Given the description of an element on the screen output the (x, y) to click on. 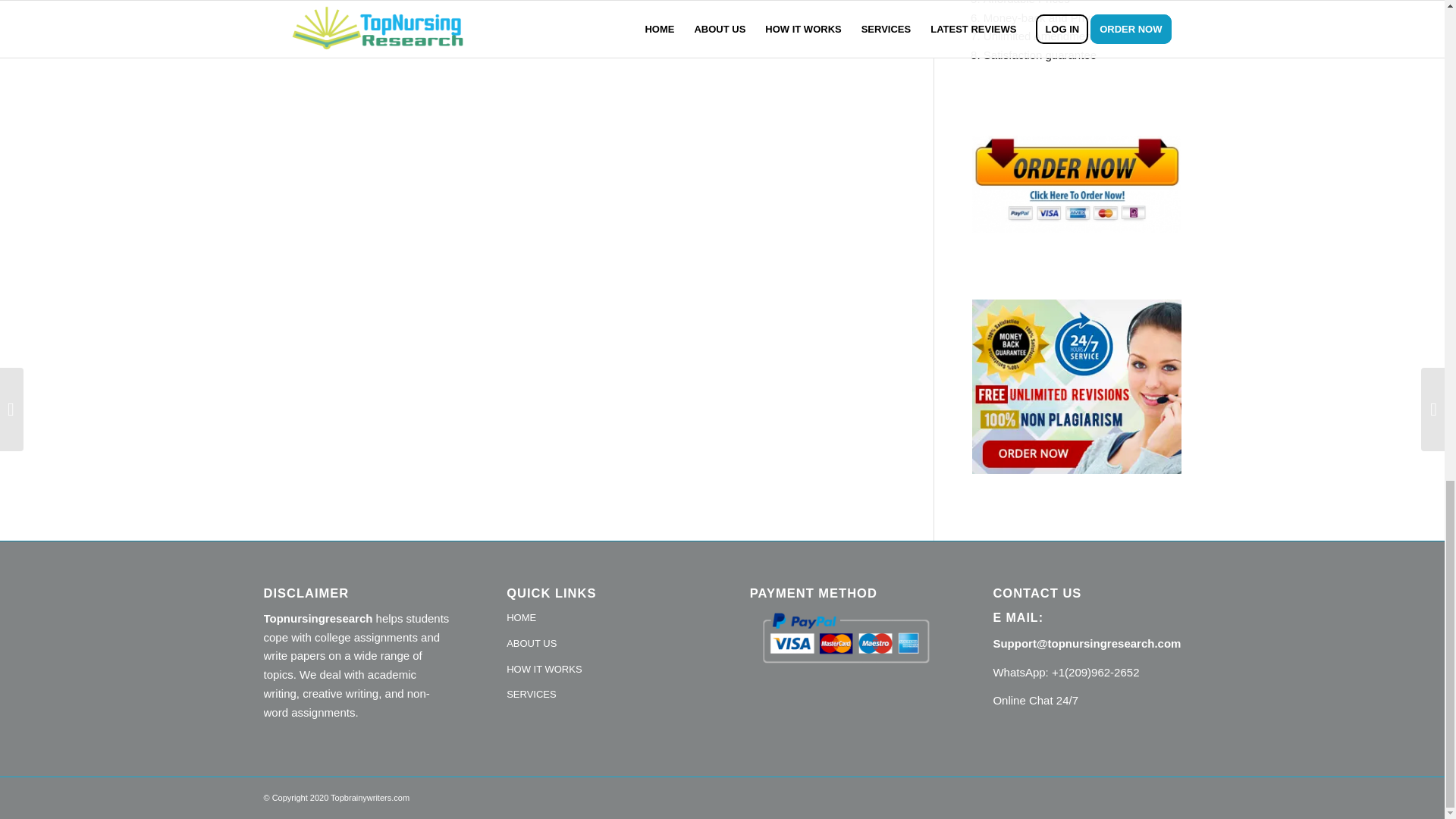
ABOUT US (600, 644)
HOME (600, 618)
HOW IT WORKS (600, 670)
SERVICES (600, 695)
